Given the description of an element on the screen output the (x, y) to click on. 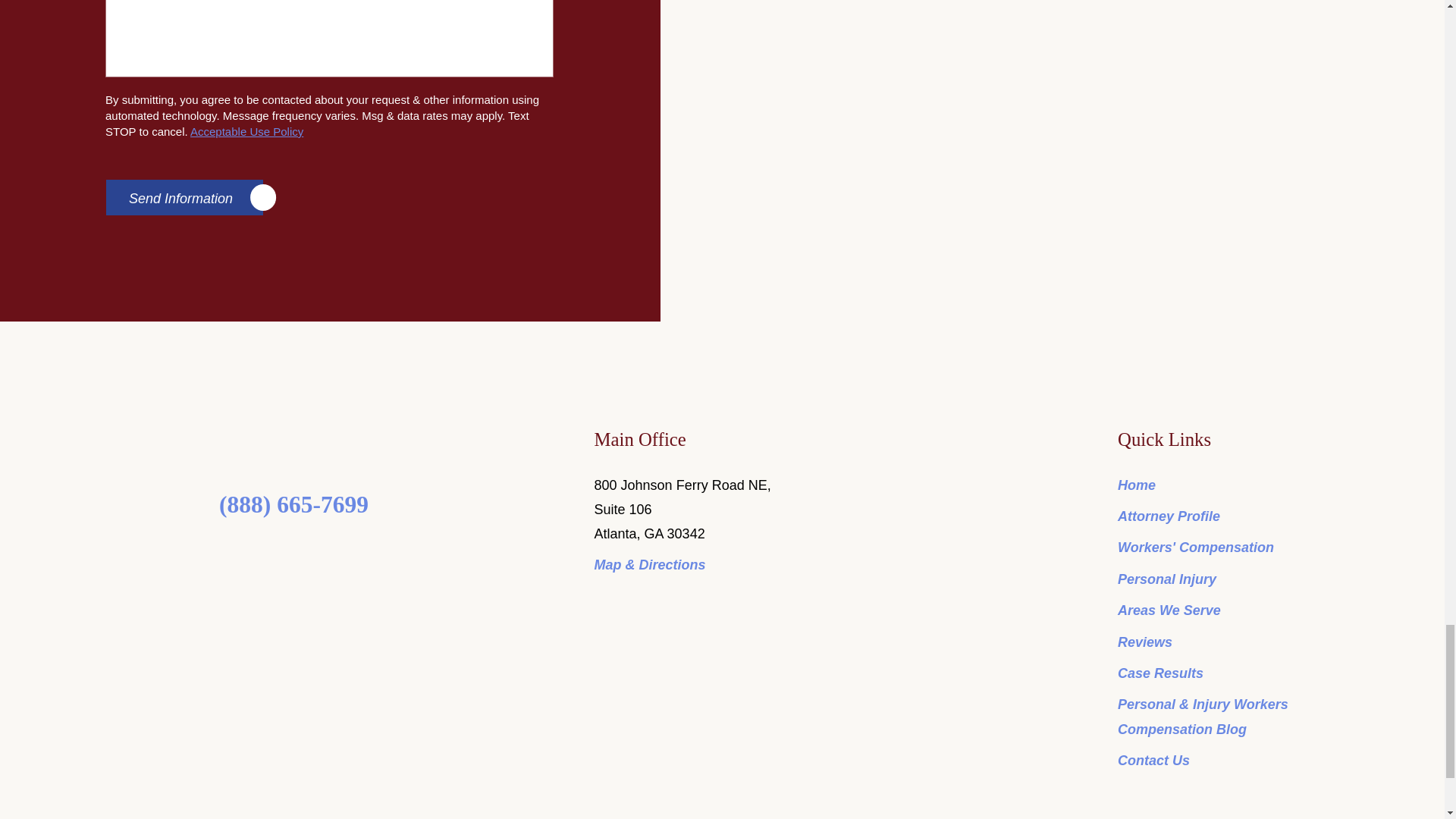
Facebook (248, 553)
LinkedIn (309, 553)
Twitter (278, 553)
Google Business Profile (339, 553)
